Given the description of an element on the screen output the (x, y) to click on. 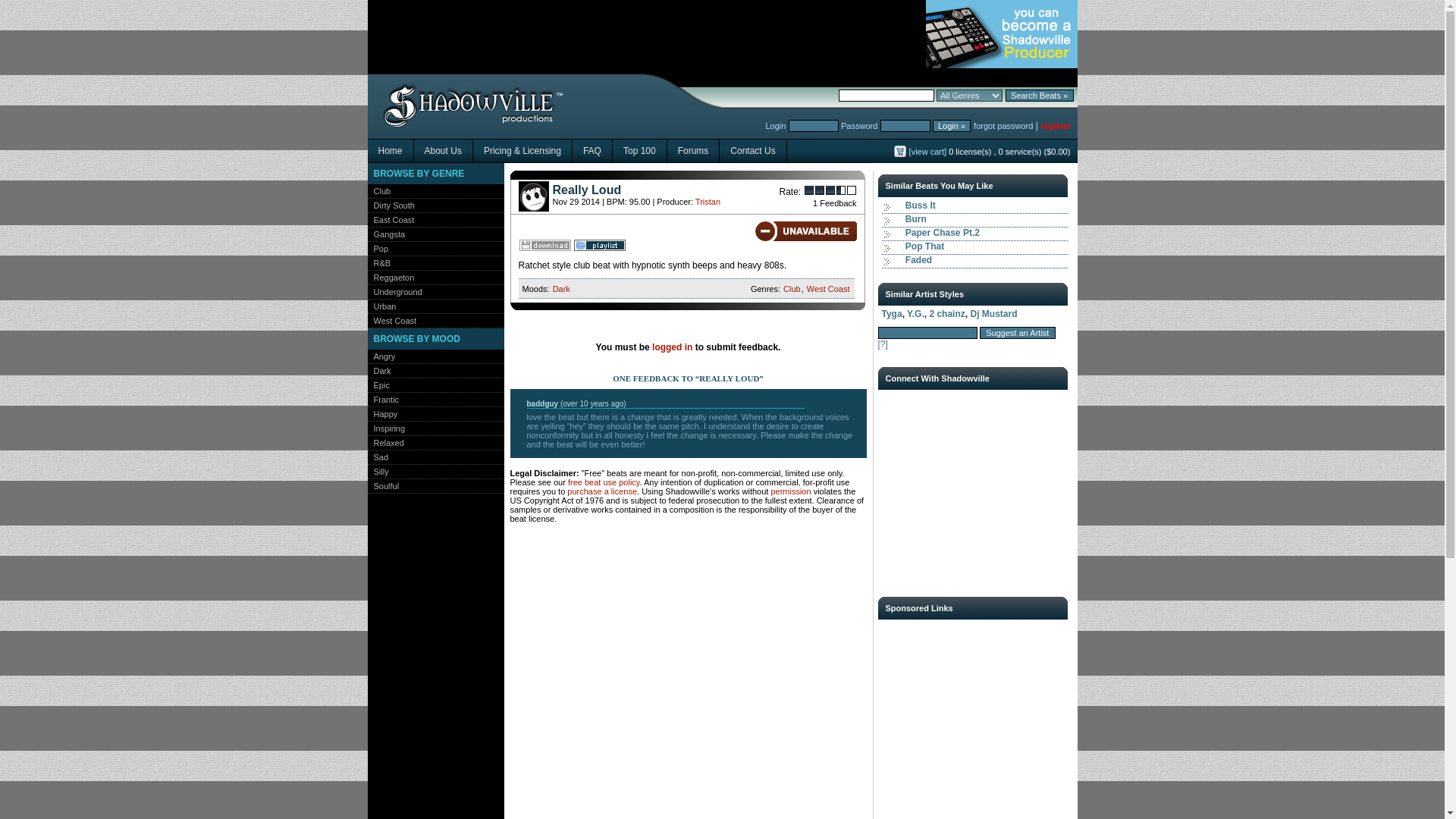
Licensing Information (522, 150)
Home (389, 150)
Forums (693, 150)
East Coast Beats (389, 219)
West Coast (391, 320)
Frantic (382, 399)
Soulful (382, 485)
FAQ (592, 150)
Dirty South (389, 204)
Sad (377, 456)
